Given the description of an element on the screen output the (x, y) to click on. 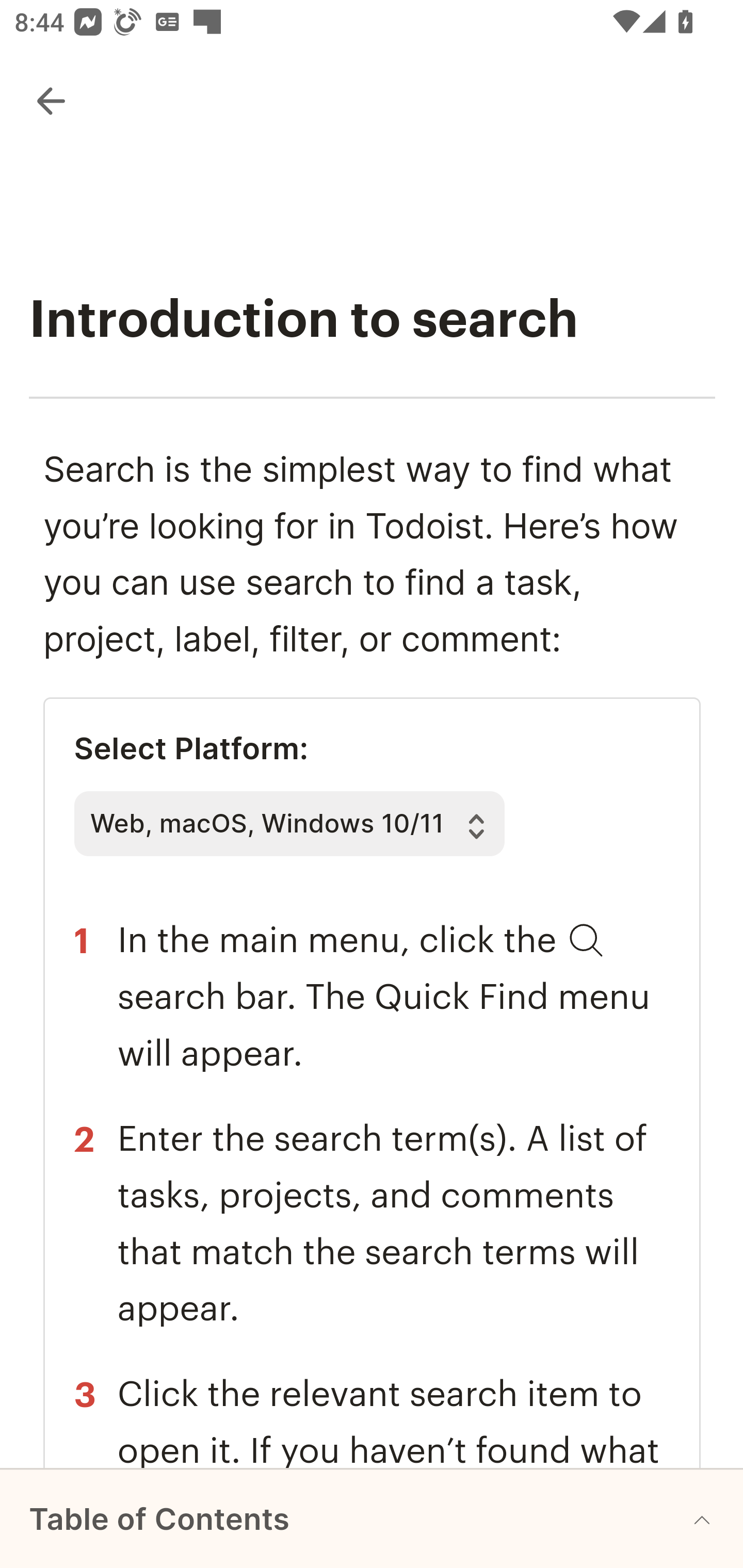
Navigate up (50, 101)
Web, macOS, Windows 10/11 (289, 823)
Table of Contents (371, 1518)
